Given the description of an element on the screen output the (x, y) to click on. 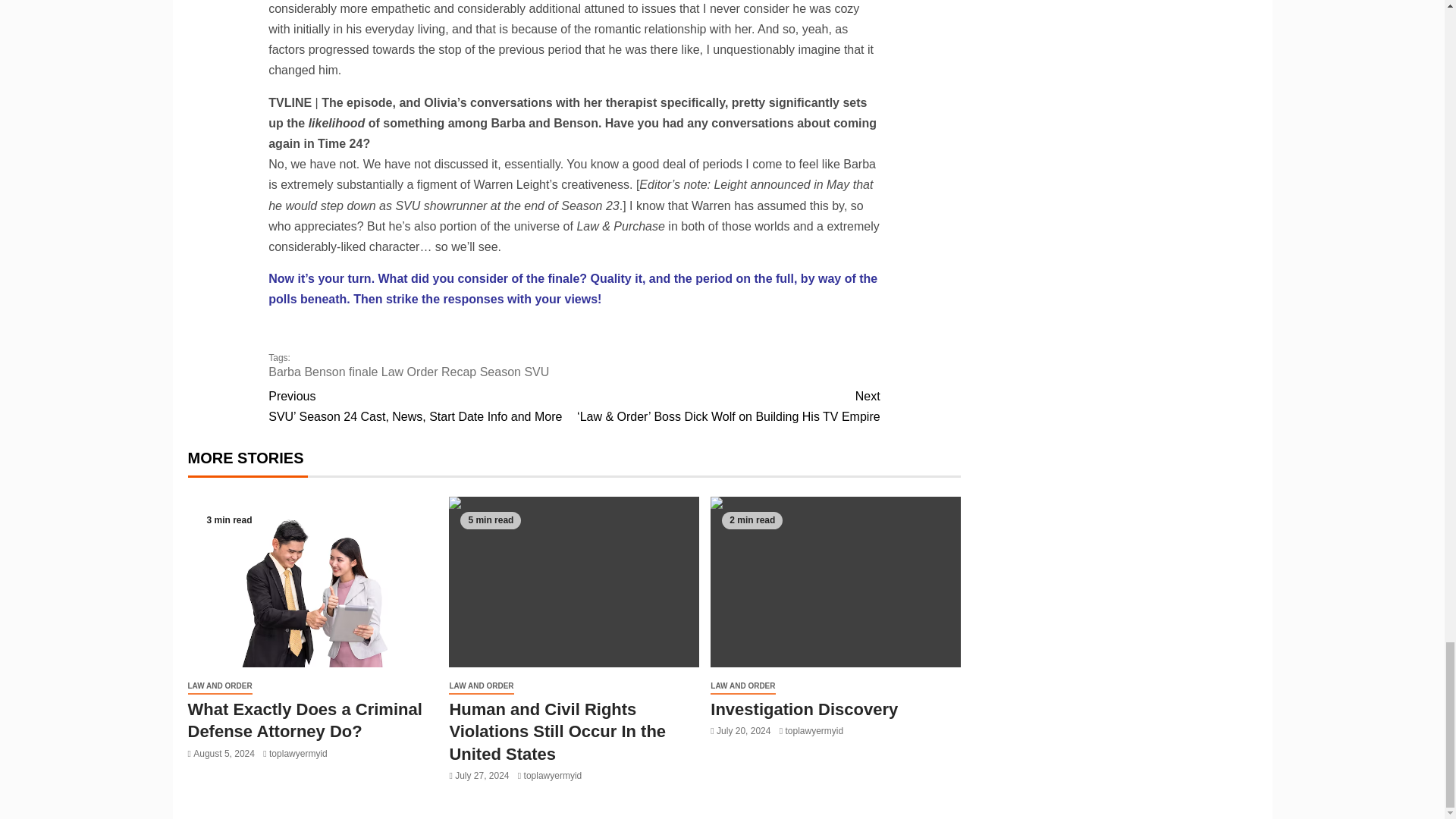
Benson (324, 371)
Order (422, 371)
finale (363, 371)
Barba (284, 371)
Law (392, 371)
Investigation Discovery (835, 581)
What Exactly Does a Criminal Defense Attorney Do? (312, 581)
Tags: (573, 365)
